Given the description of an element on the screen output the (x, y) to click on. 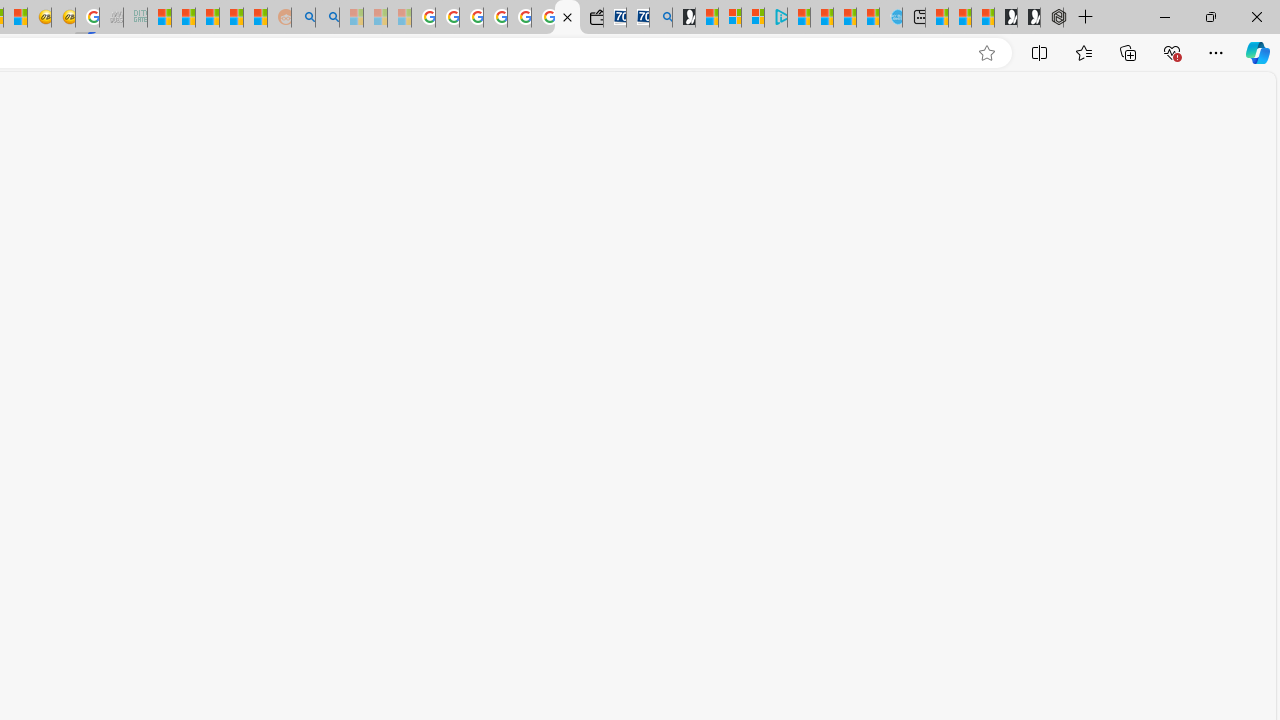
Microsoft Start - Sleeping (351, 17)
Wallet (590, 17)
Navy Quest (110, 17)
